Given the description of an element on the screen output the (x, y) to click on. 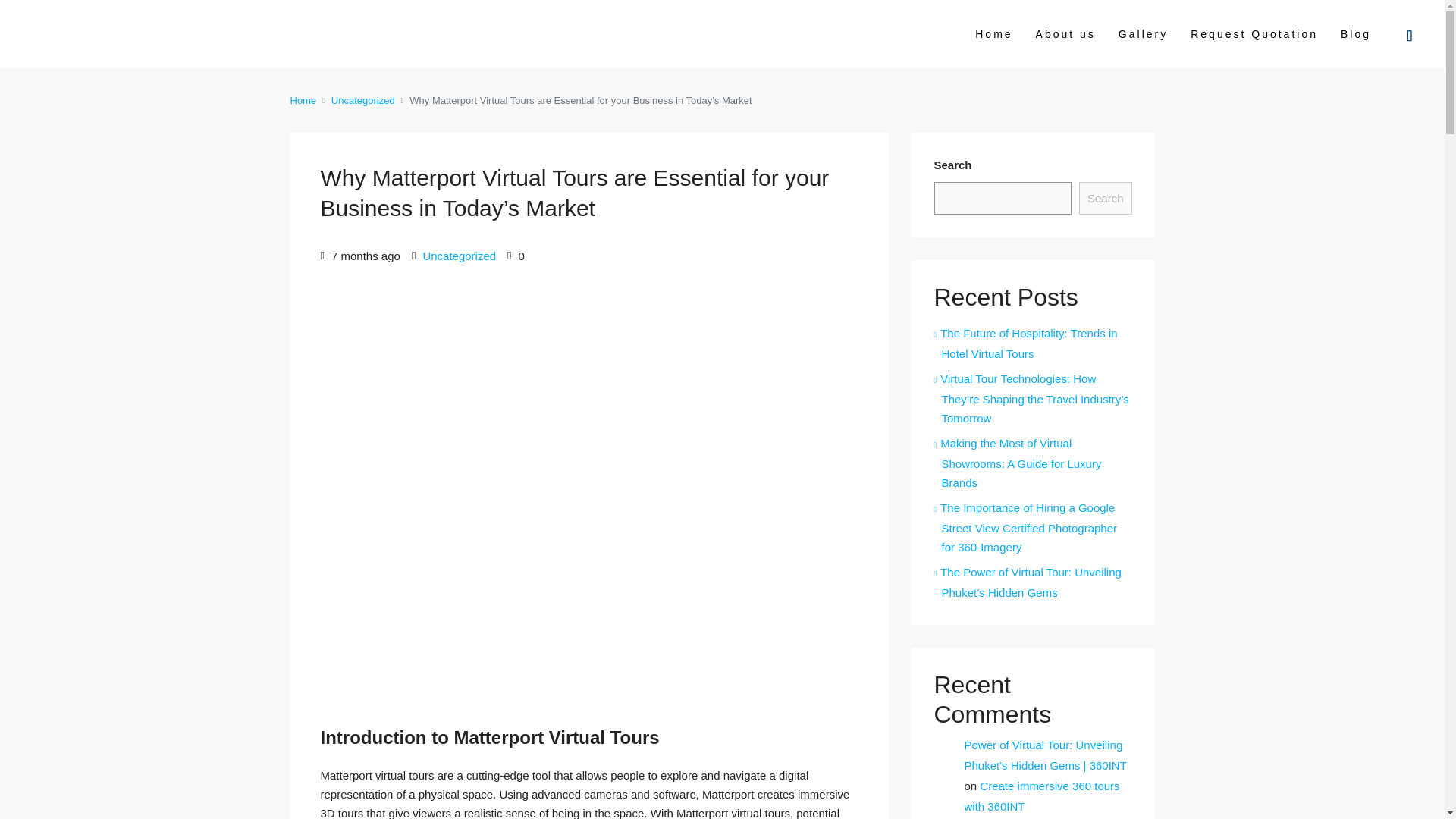
Gallery (1142, 33)
Home (302, 99)
Uncategorized (362, 99)
About us (1065, 33)
Uncategorized (459, 255)
Request Quotation (1254, 33)
